Given the description of an element on the screen output the (x, y) to click on. 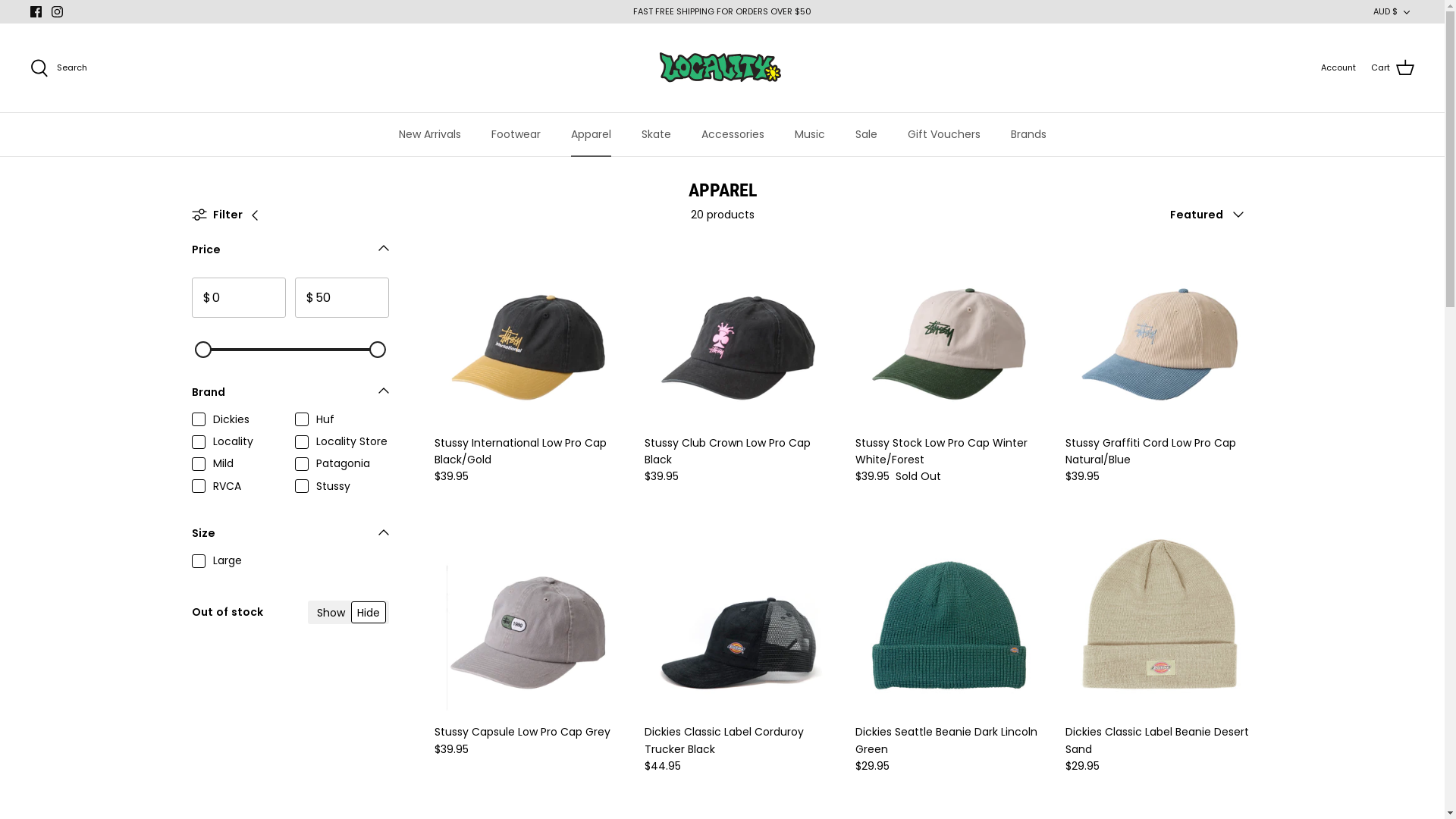
Apparel Element type: text (590, 134)
Footwear Element type: text (515, 134)
Dickies Classic Label Beanie Desert Sand
$29.95 Element type: text (1159, 748)
Stussy Stock Low Pro Cap Winter White/Forest
$39.95
Sold Out Element type: text (949, 459)
Locality Store Element type: hover (721, 67)
Account Element type: text (1338, 68)
Sale Element type: text (866, 134)
Featured Element type: text (1211, 214)
Instagram Element type: text (56, 11)
Brands Element type: text (1027, 134)
AUD $
Down Element type: text (1393, 11)
Filter Element type: text (229, 214)
Price
Down Element type: text (289, 253)
Dickies Seattle Beanie Dark Lincoln Green
$29.95 Element type: text (949, 748)
Brand
Down Element type: text (289, 396)
Stussy Club Crown Low Pro Cap Black
$39.95 Element type: text (738, 459)
Search Element type: text (58, 68)
Facebook Element type: text (35, 11)
Music Element type: text (809, 134)
Gift Vouchers Element type: text (943, 134)
Size
Down Element type: text (289, 537)
Stussy Capsule Low Pro Cap Grey
$39.95 Element type: text (527, 740)
Cart Element type: text (1392, 68)
Accessories Element type: text (732, 134)
Skate Element type: text (655, 134)
Stussy International Low Pro Cap Black/Gold
$39.95 Element type: text (527, 459)
Dickies Classic Label Corduroy Trucker Black
$44.95 Element type: text (738, 748)
New Arrivals Element type: text (429, 134)
Stussy Graffiti Cord Low Pro Cap Natural/Blue
$39.95 Element type: text (1159, 459)
